Given the description of an element on the screen output the (x, y) to click on. 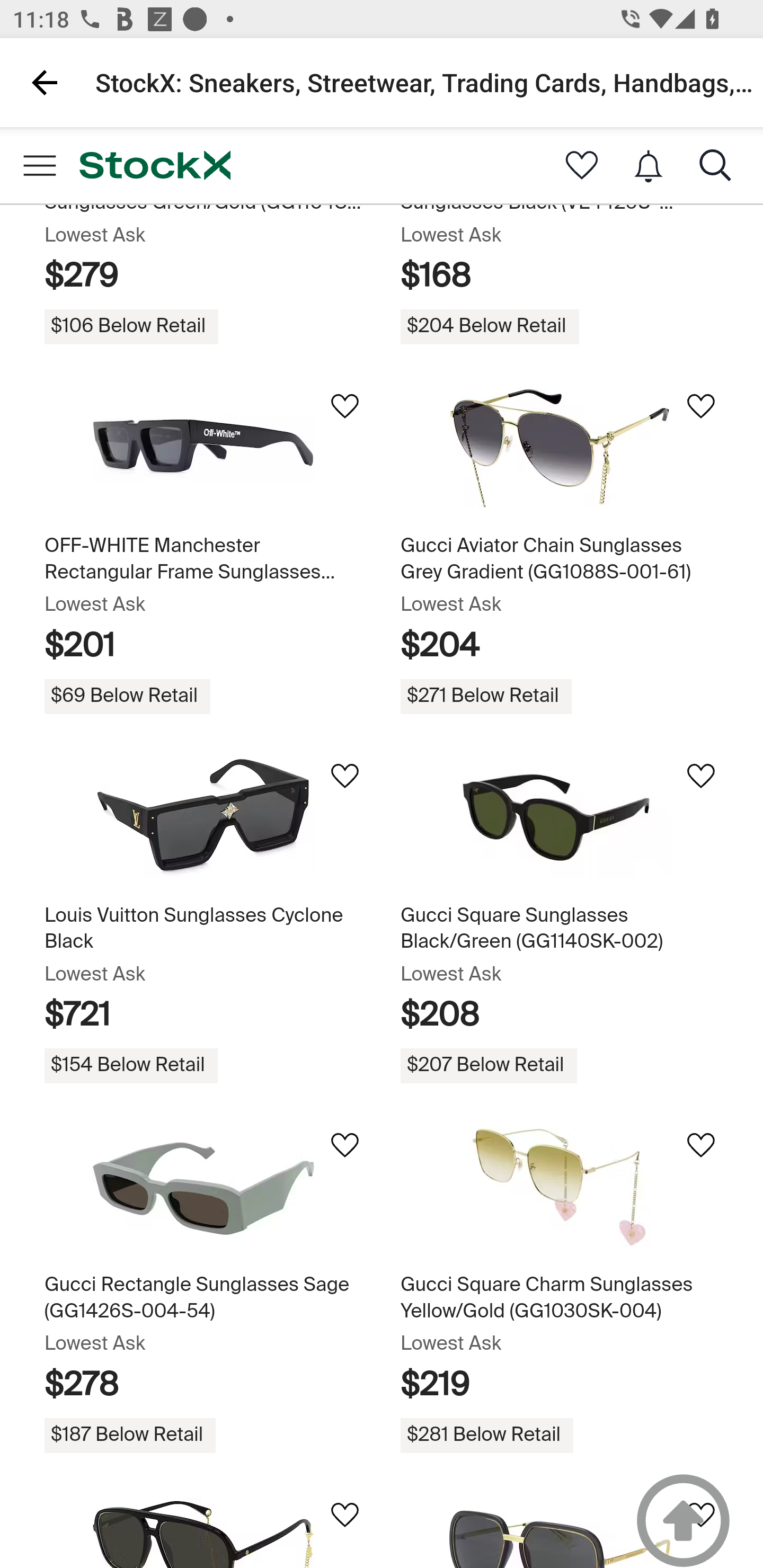
Navigate up (44, 82)
